Given the description of an element on the screen output the (x, y) to click on. 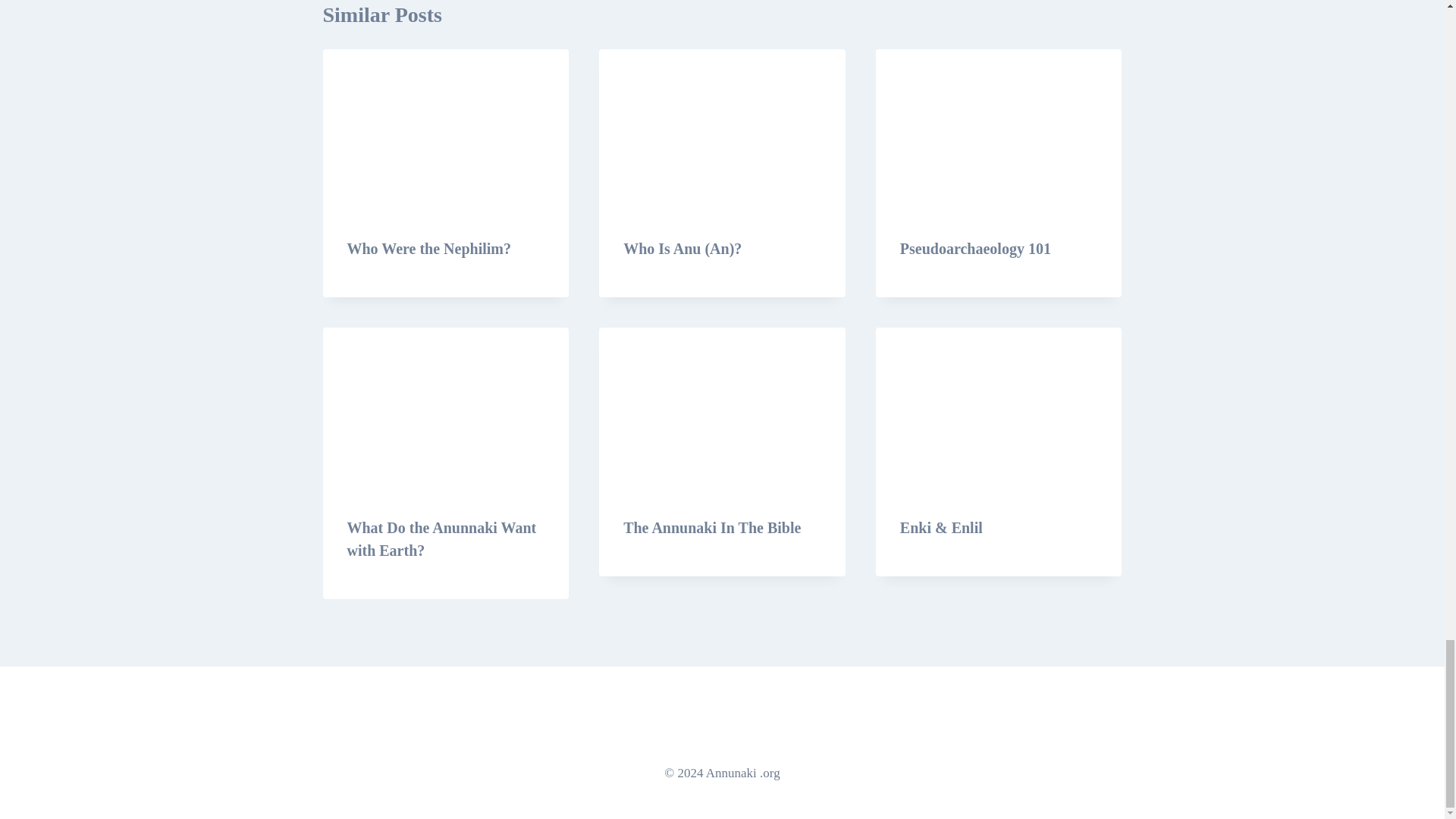
Who Were the Nephilim? (429, 248)
What Do the Anunnaki Want with Earth? (442, 538)
Pseudoarchaeology 101 (975, 248)
